Given the description of an element on the screen output the (x, y) to click on. 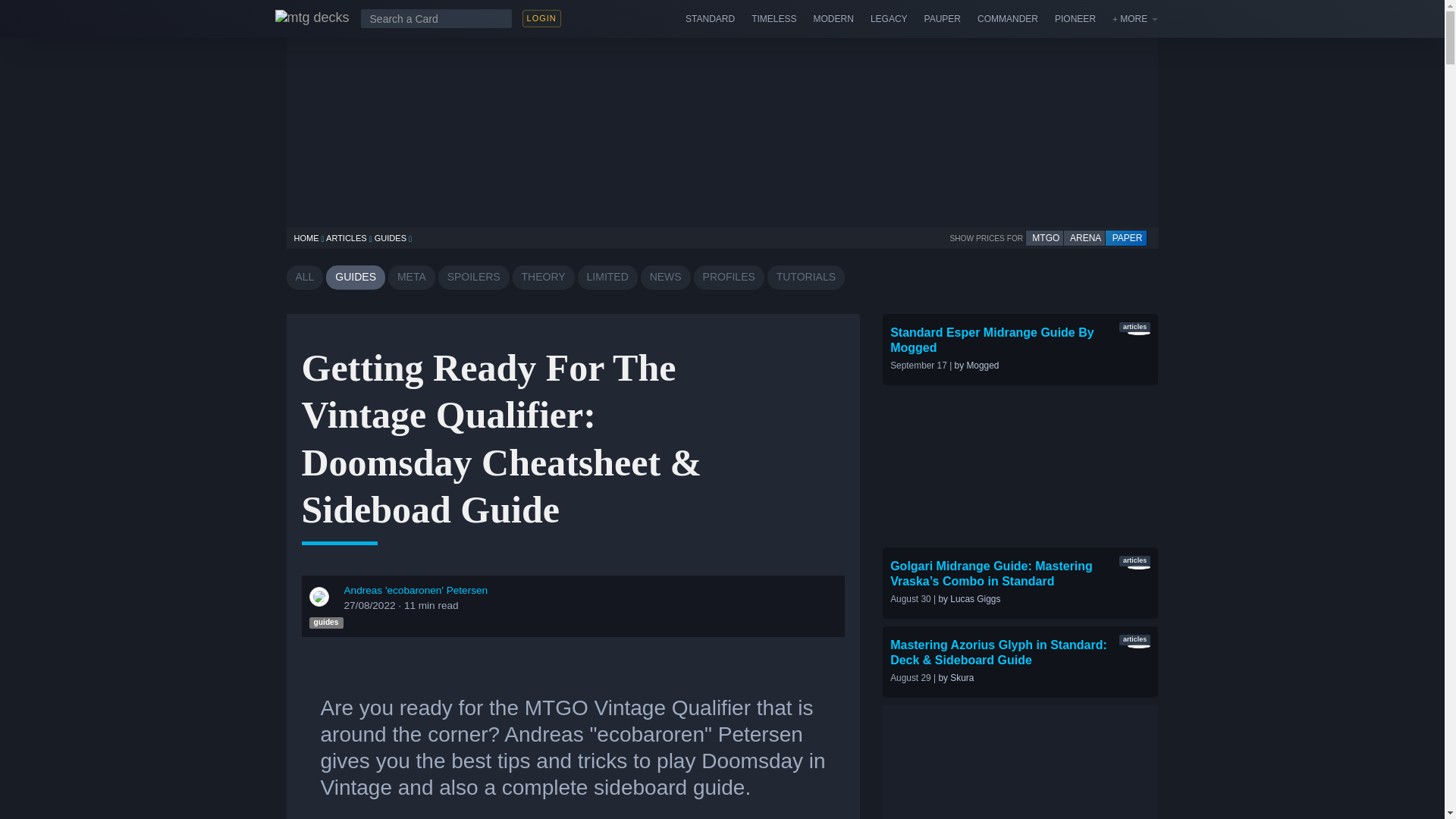
GUIDES (390, 237)
PROFILES (729, 277)
ALL (304, 277)
TUTORIALS (805, 277)
NEWS (665, 277)
THEORY (543, 277)
HOME (306, 237)
GUIDES (355, 277)
guides (325, 622)
LIMITED (607, 277)
